Given the description of an element on the screen output the (x, y) to click on. 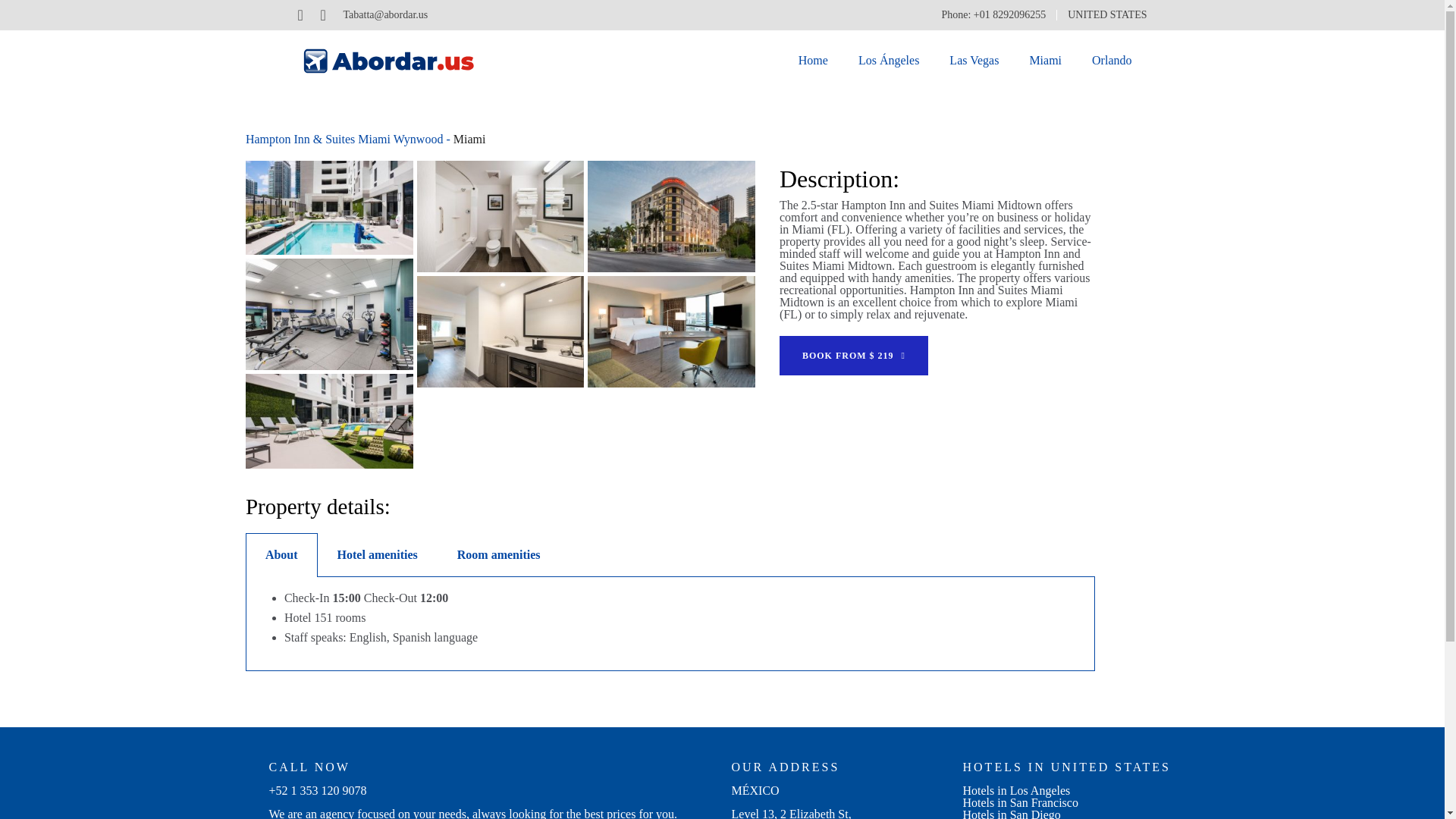
Miami (1045, 60)
Hotels in Los Angeles (1016, 789)
Hotels in San Francisco (1020, 802)
Las Vegas (973, 60)
Home (813, 60)
Hotels in San Diego (1011, 813)
Orlando (1112, 60)
